Given the description of an element on the screen output the (x, y) to click on. 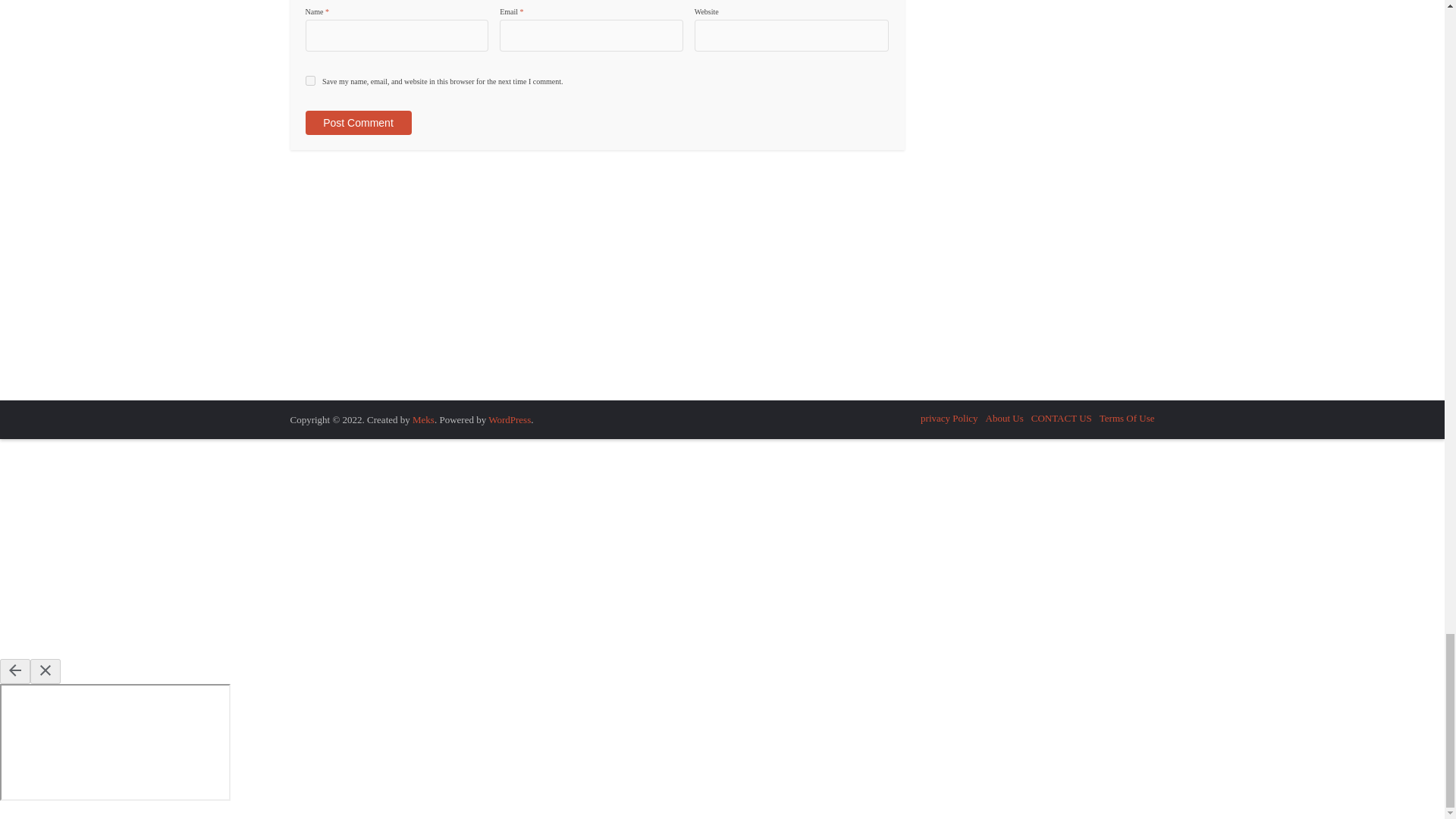
yes (309, 80)
Post Comment (357, 122)
